Given the description of an element on the screen output the (x, y) to click on. 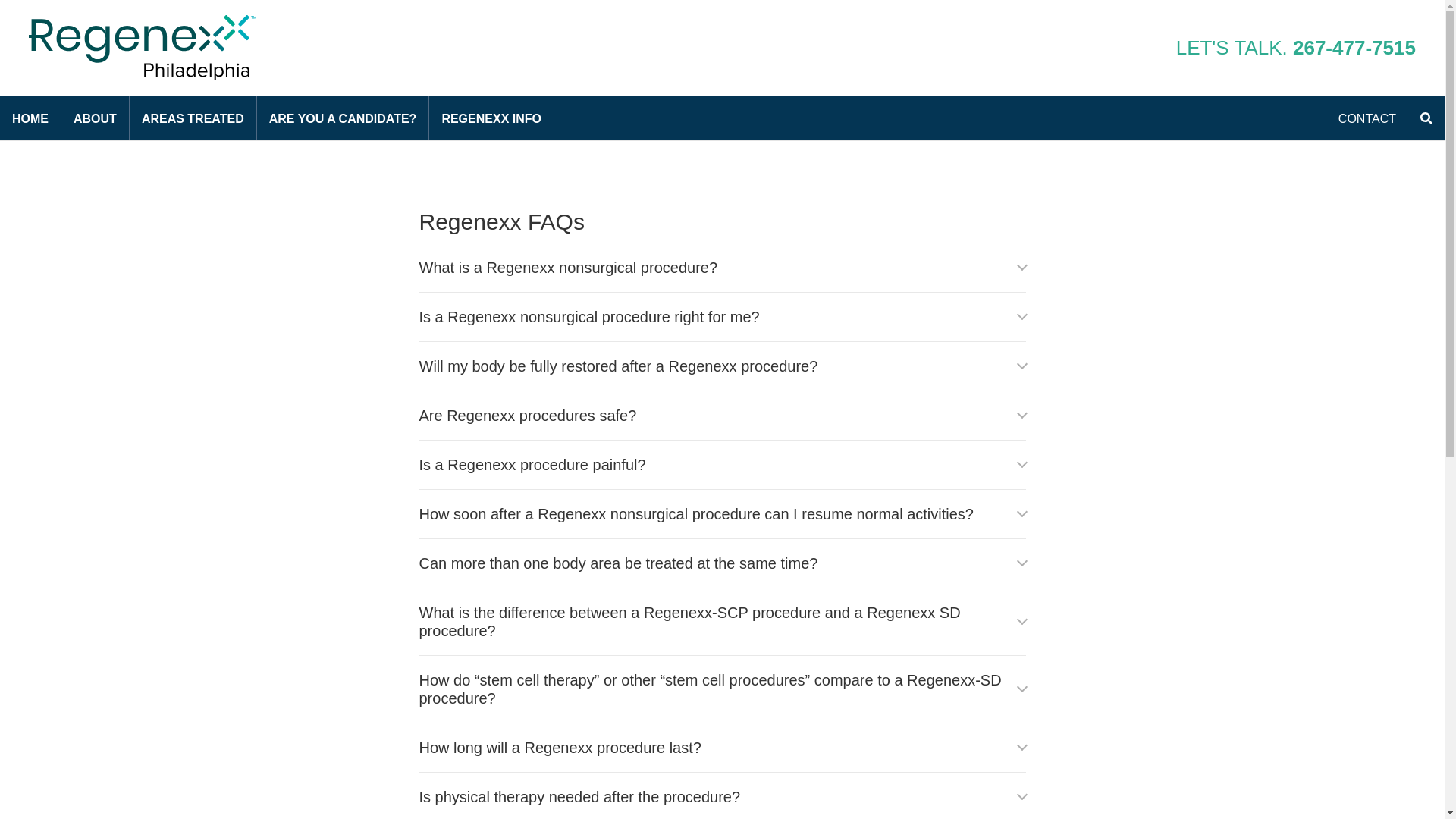
ABOUT (95, 116)
HOME (30, 116)
ARE YOU A CANDIDATE? (343, 116)
REGENEXX INFO (491, 116)
CONTACT (1366, 116)
267-477-7515 (1353, 47)
AREAS TREATED (193, 116)
